Given the description of an element on the screen output the (x, y) to click on. 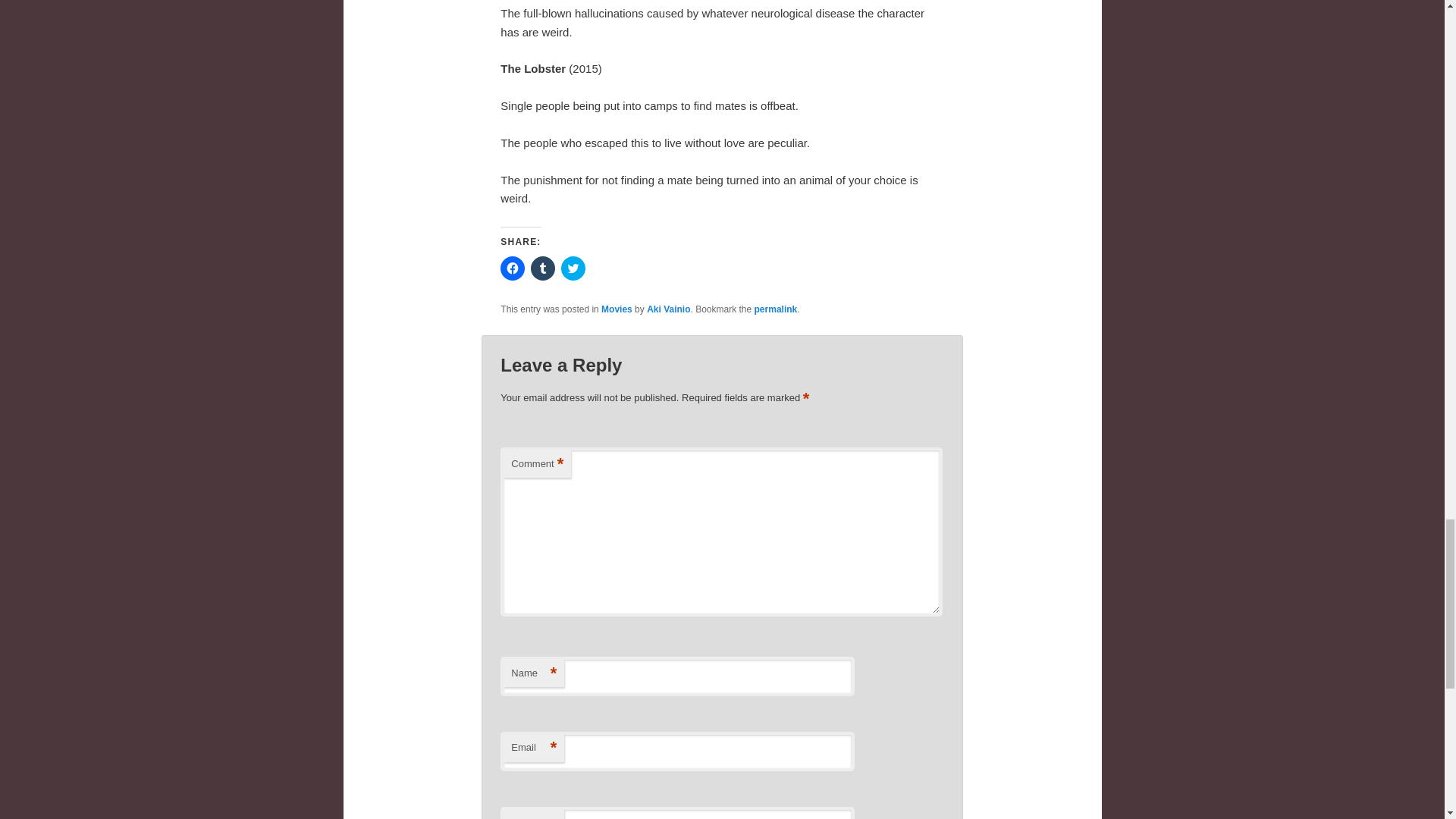
Click to share on Twitter (572, 268)
Permalink to My Favorite Weird Movies (775, 308)
Click to share on Tumblr (542, 268)
Movies (616, 308)
Click to share on Facebook (512, 268)
Aki Vainio (668, 308)
permalink (775, 308)
